Given the description of an element on the screen output the (x, y) to click on. 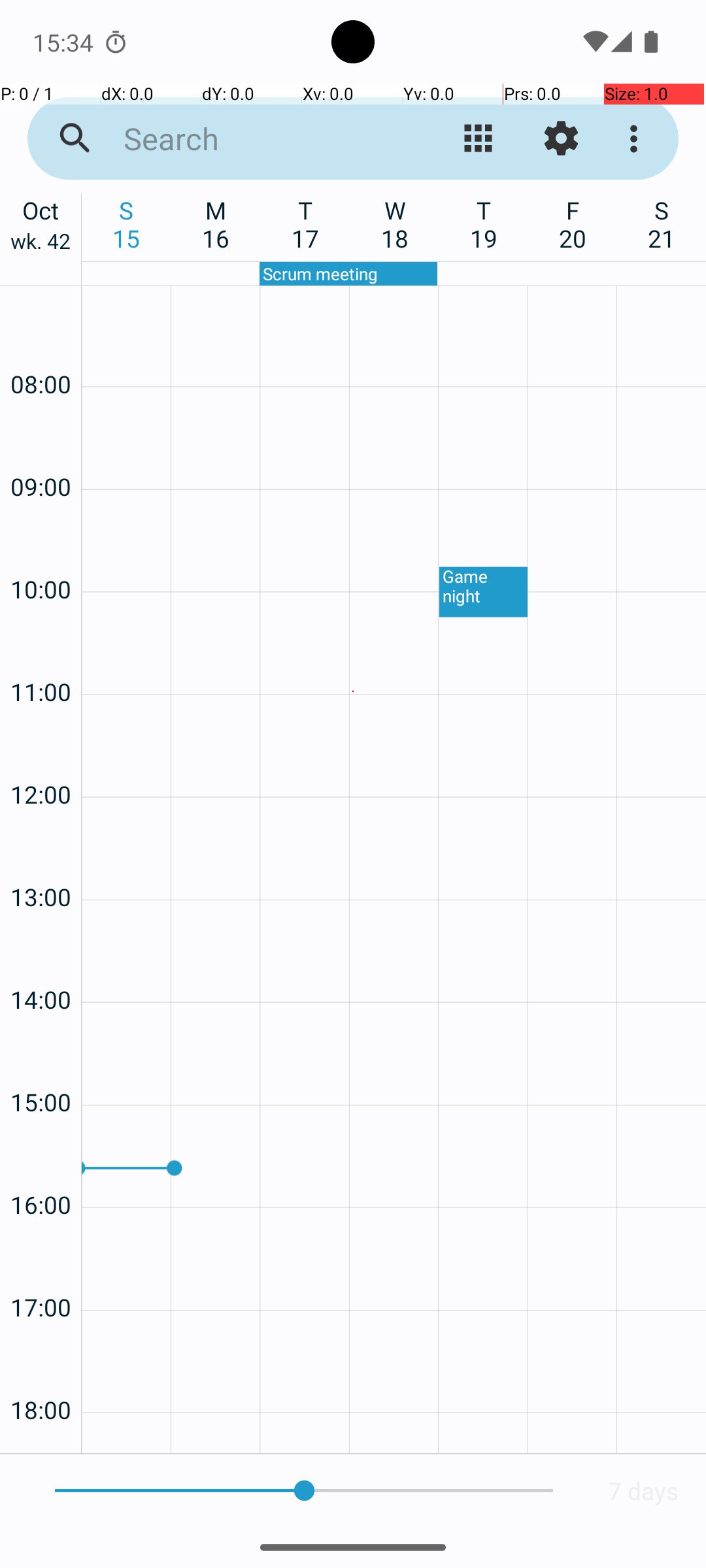
wk. 42 Element type: android.widget.TextView (40, 243)
M
16 Element type: android.widget.TextView (215, 223)
T
17 Element type: android.widget.TextView (305, 223)
W
18 Element type: android.widget.TextView (394, 223)
T
19 Element type: android.widget.TextView (483, 223)
F
20 Element type: android.widget.TextView (572, 223)
S
21 Element type: android.widget.TextView (661, 223)
Scrum meeting Element type: android.widget.TextView (348, 273)
Game night Element type: android.widget.TextView (483, 592)
